Given the description of an element on the screen output the (x, y) to click on. 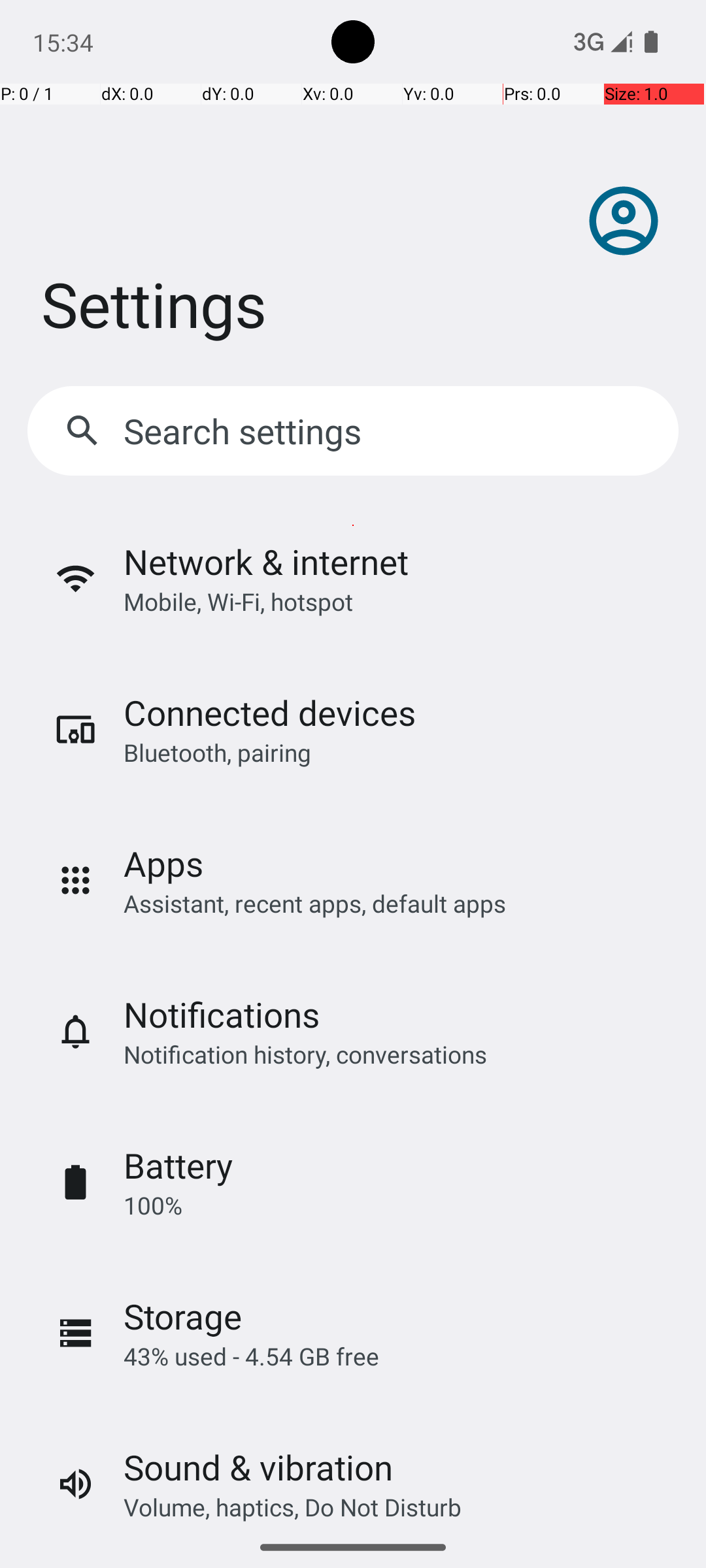
43% used - 4.54 GB free Element type: android.widget.TextView (251, 1355)
